Given the description of an element on the screen output the (x, y) to click on. 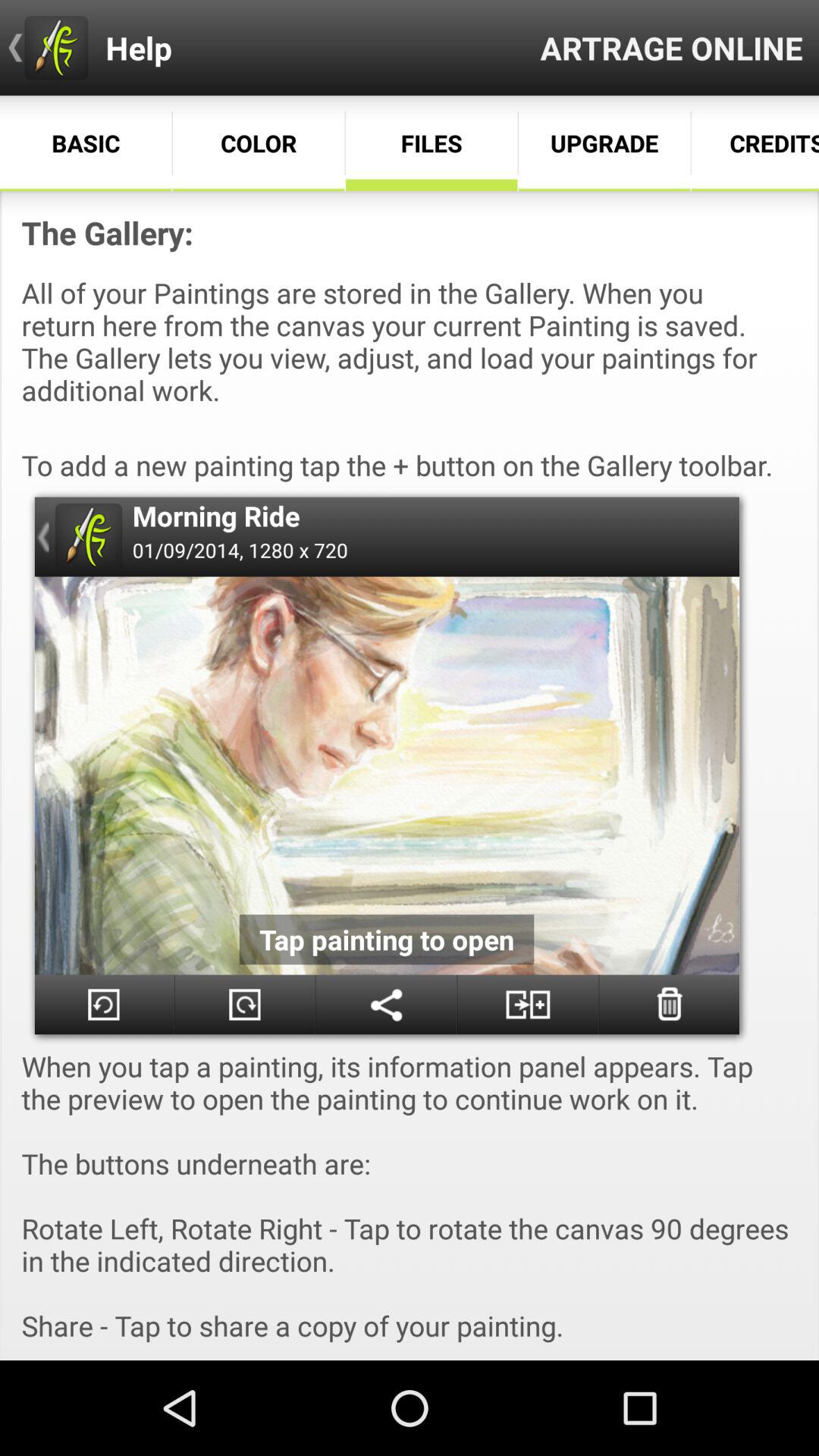
scroll to artrage online item (671, 47)
